Given the description of an element on the screen output the (x, y) to click on. 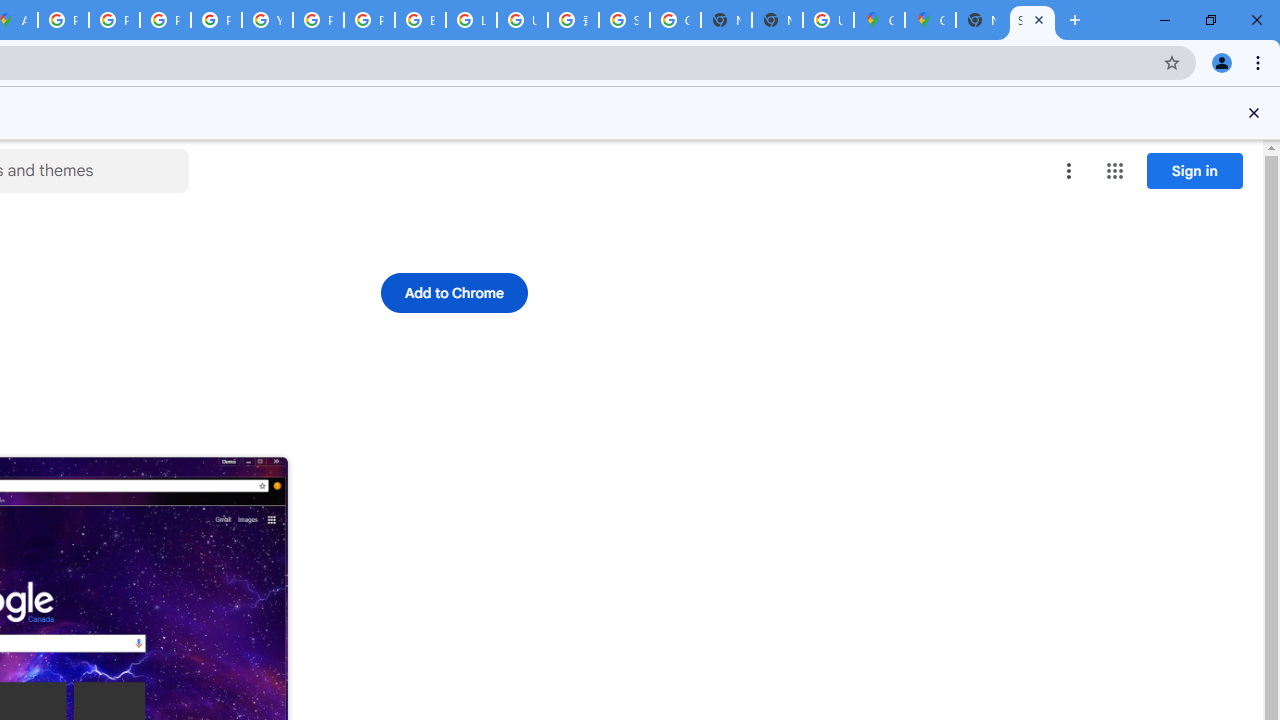
Use Google Maps in Space - Google Maps Help (827, 20)
Add to Chrome (453, 292)
New Tab (981, 20)
Chrome (1260, 62)
You (1221, 62)
More options menu (1069, 170)
Sign in - Google Accounts (624, 20)
New Tab (776, 20)
